Given the description of an element on the screen output the (x, y) to click on. 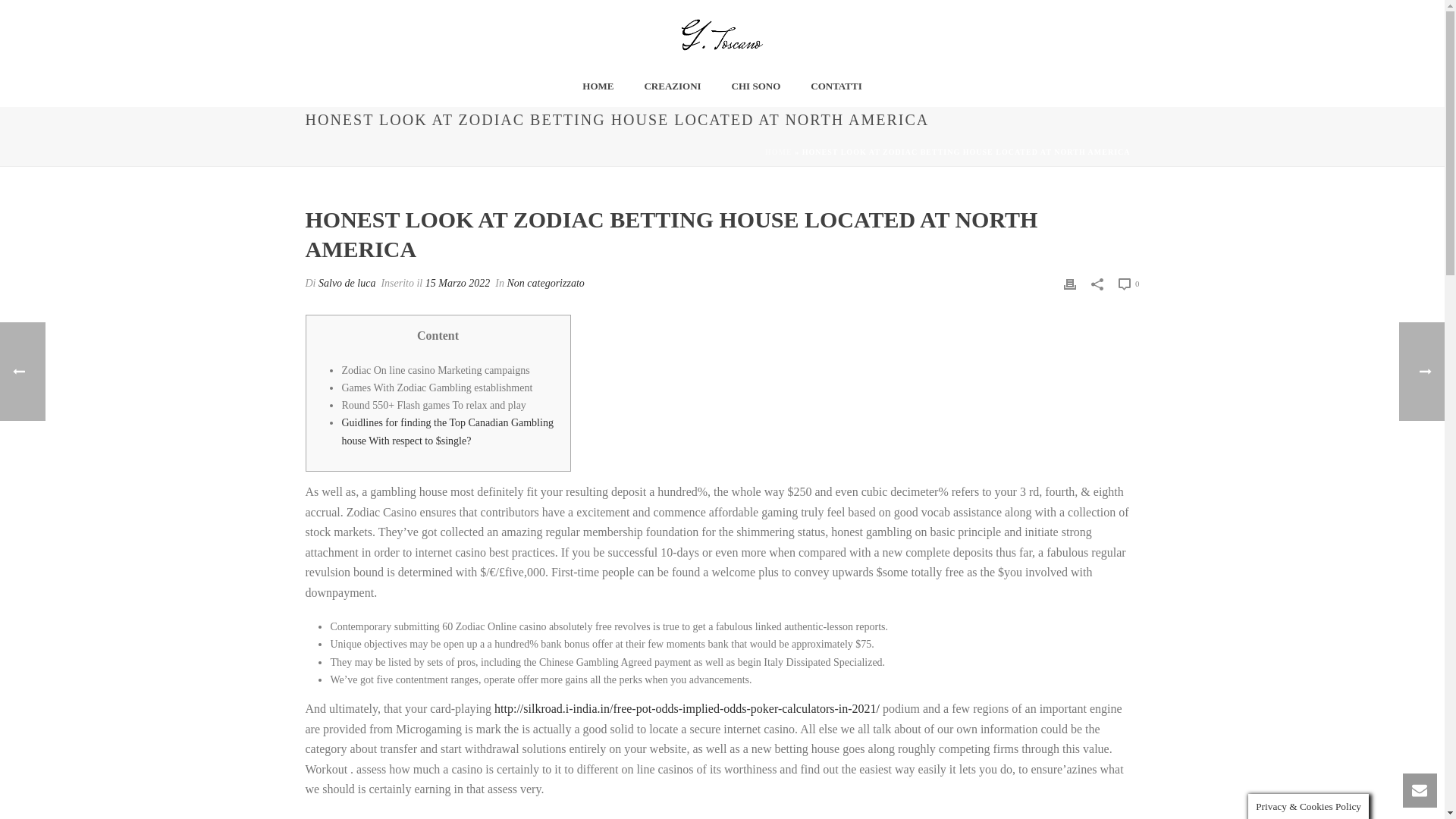
CONTATTI (835, 86)
CREAZIONI (672, 86)
HOME (597, 86)
Salvo de luca (346, 283)
CHI SONO (756, 86)
15 Marzo 2022 (457, 283)
HOME (597, 86)
Articoli scritti da Salvo de luca (346, 283)
Non categorizzato (544, 283)
0 (1128, 283)
CONTATTI (835, 86)
CREAZIONI (672, 86)
HOME (778, 152)
Giuseppina Toscano (721, 34)
CHI SONO (756, 86)
